Given the description of an element on the screen output the (x, y) to click on. 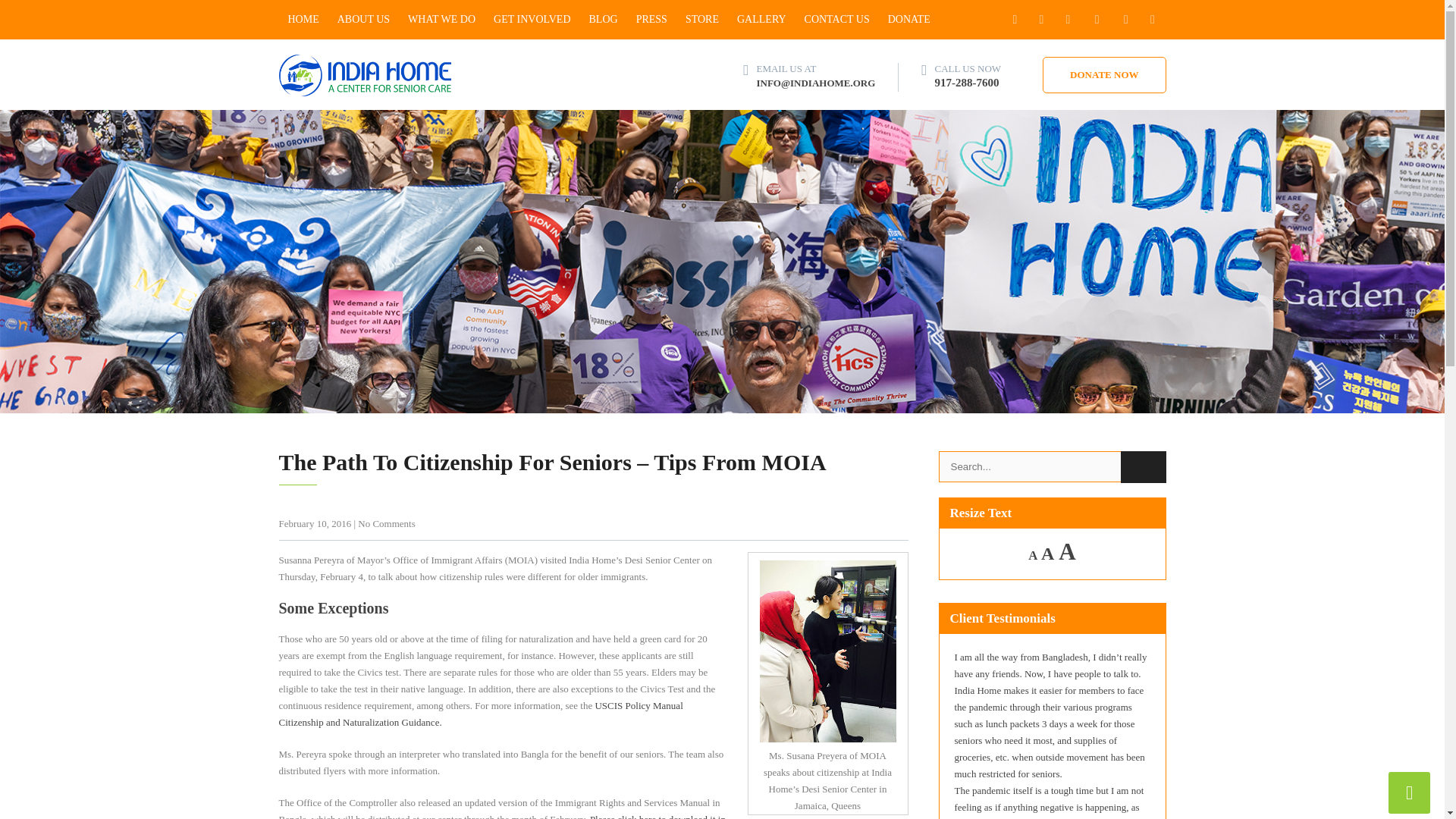
USCIS Policy Manual Citizenship and Naturalization Guidance. (480, 714)
WHAT WE DO (441, 19)
youtube (1152, 19)
facebook (1014, 19)
DONATE NOW (1104, 74)
No Comments (386, 523)
PRESS (652, 19)
GALLERY (761, 19)
ABOUT US (363, 19)
DONATE (909, 19)
HOME (304, 19)
GET INVOLVED (531, 19)
linkedin (1126, 19)
BLOG (603, 19)
STORE (702, 19)
